Given the description of an element on the screen output the (x, y) to click on. 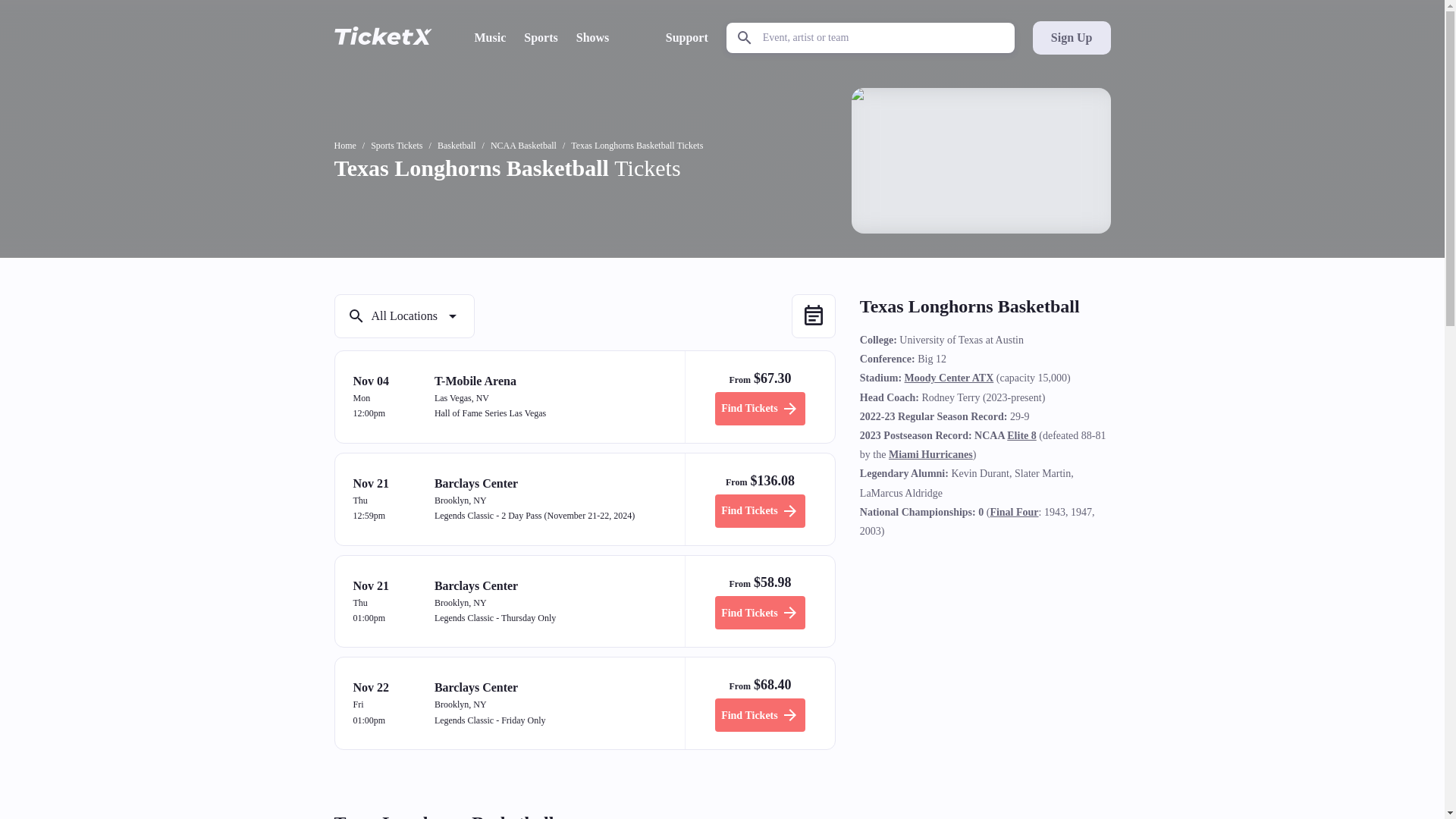
Event, artist or team (870, 37)
Shows (593, 37)
Support (686, 37)
NCAA Basketball (523, 145)
Find Tickets (759, 715)
Sports (540, 37)
Sports Tickets (396, 145)
Home (344, 145)
Final Four (1014, 511)
Basketball (457, 145)
Find Tickets (759, 612)
Filter (403, 316)
Miami Hurricanes (930, 454)
Find Tickets (759, 408)
Elite 8 (1021, 435)
